Given the description of an element on the screen output the (x, y) to click on. 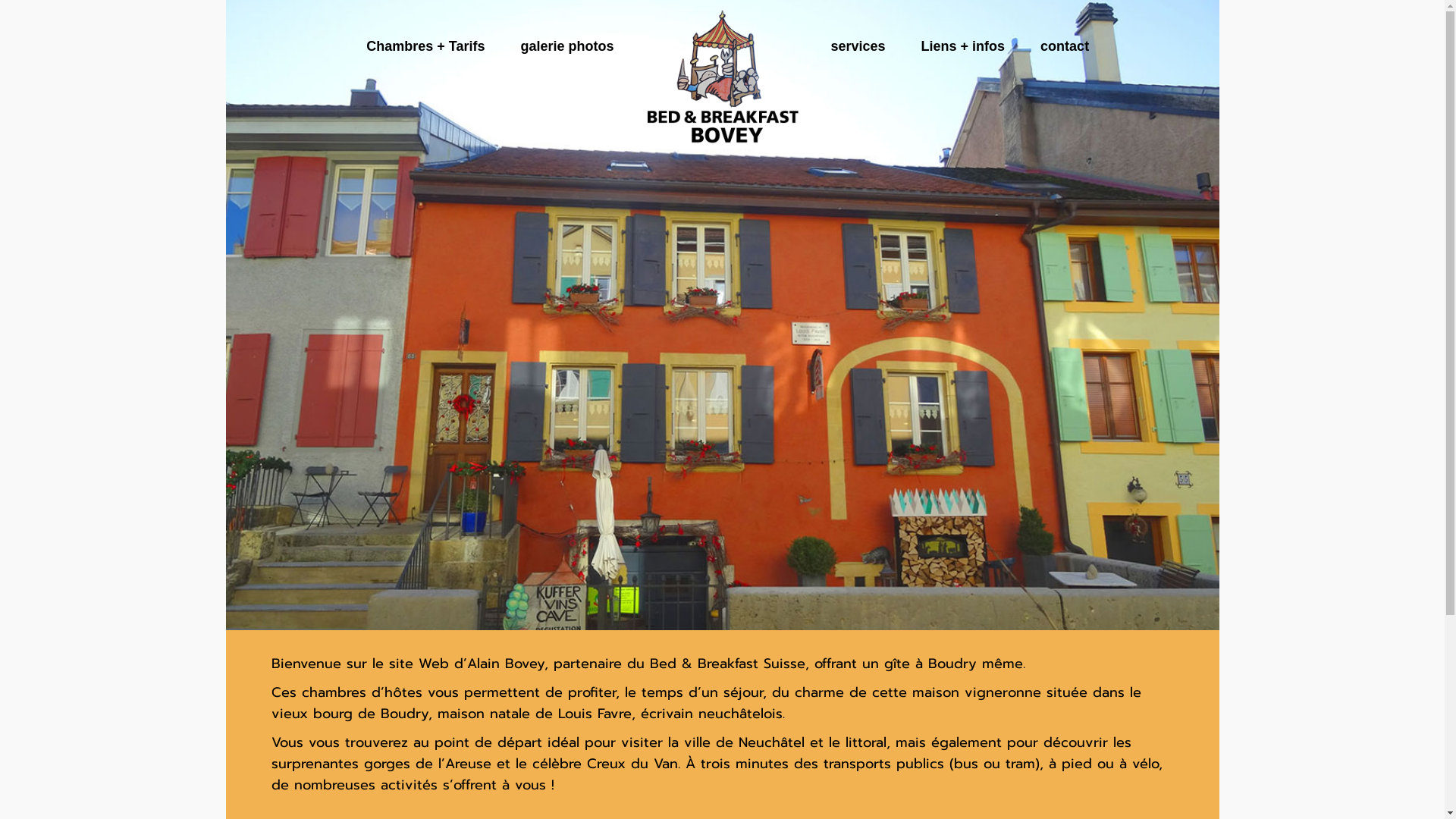
galerie photos Element type: text (566, 46)
Chambres + Tarifs Element type: text (425, 46)
contact Element type: text (1064, 46)
services Element type: text (858, 46)
Liens + infos Element type: text (963, 46)
